Given the description of an element on the screen output the (x, y) to click on. 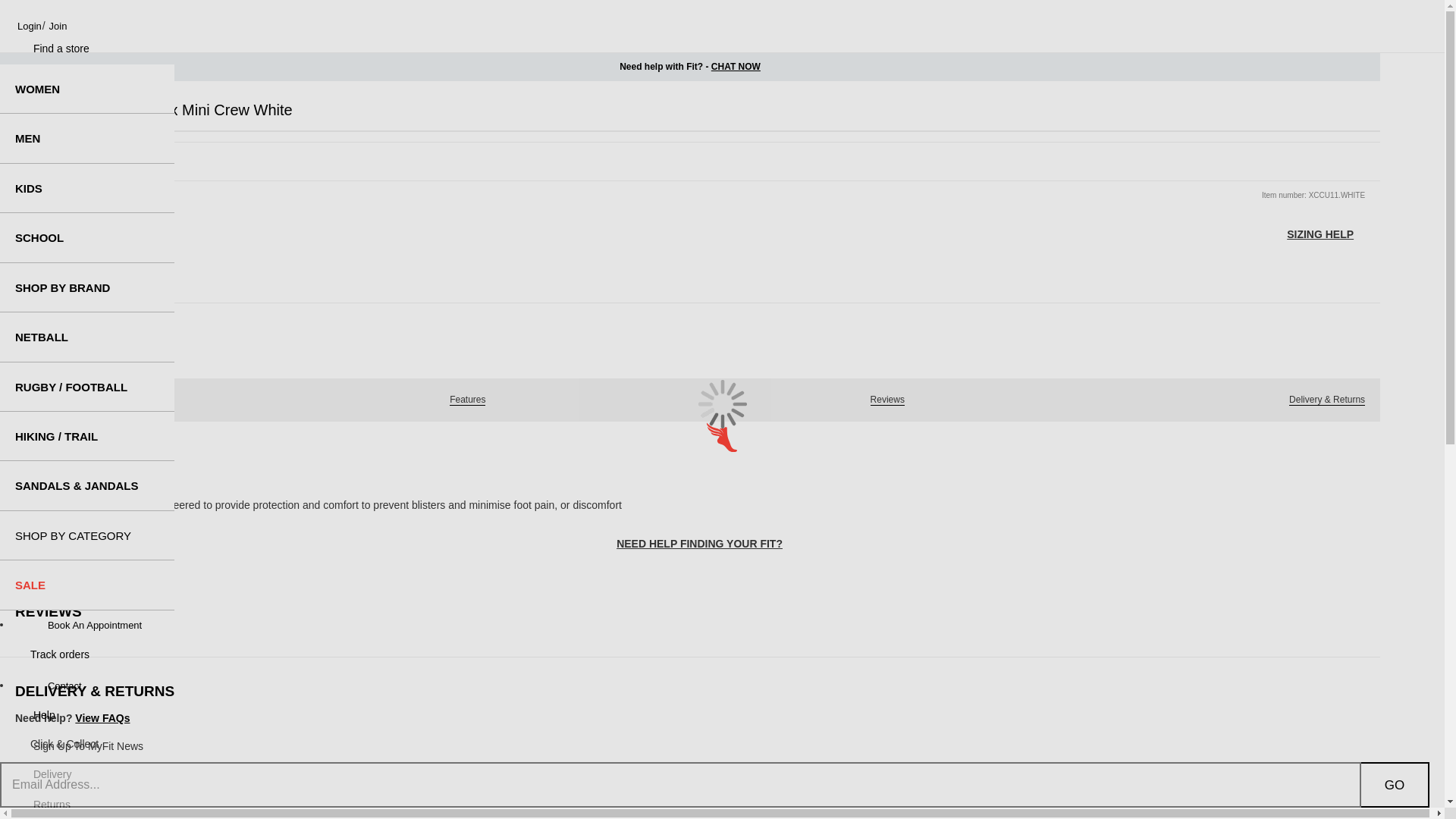
Find a store (44, 48)
Join (57, 25)
WOMEN (87, 88)
The Athlete's Foot (722, 437)
Women (87, 88)
Login (21, 25)
